Given the description of an element on the screen output the (x, y) to click on. 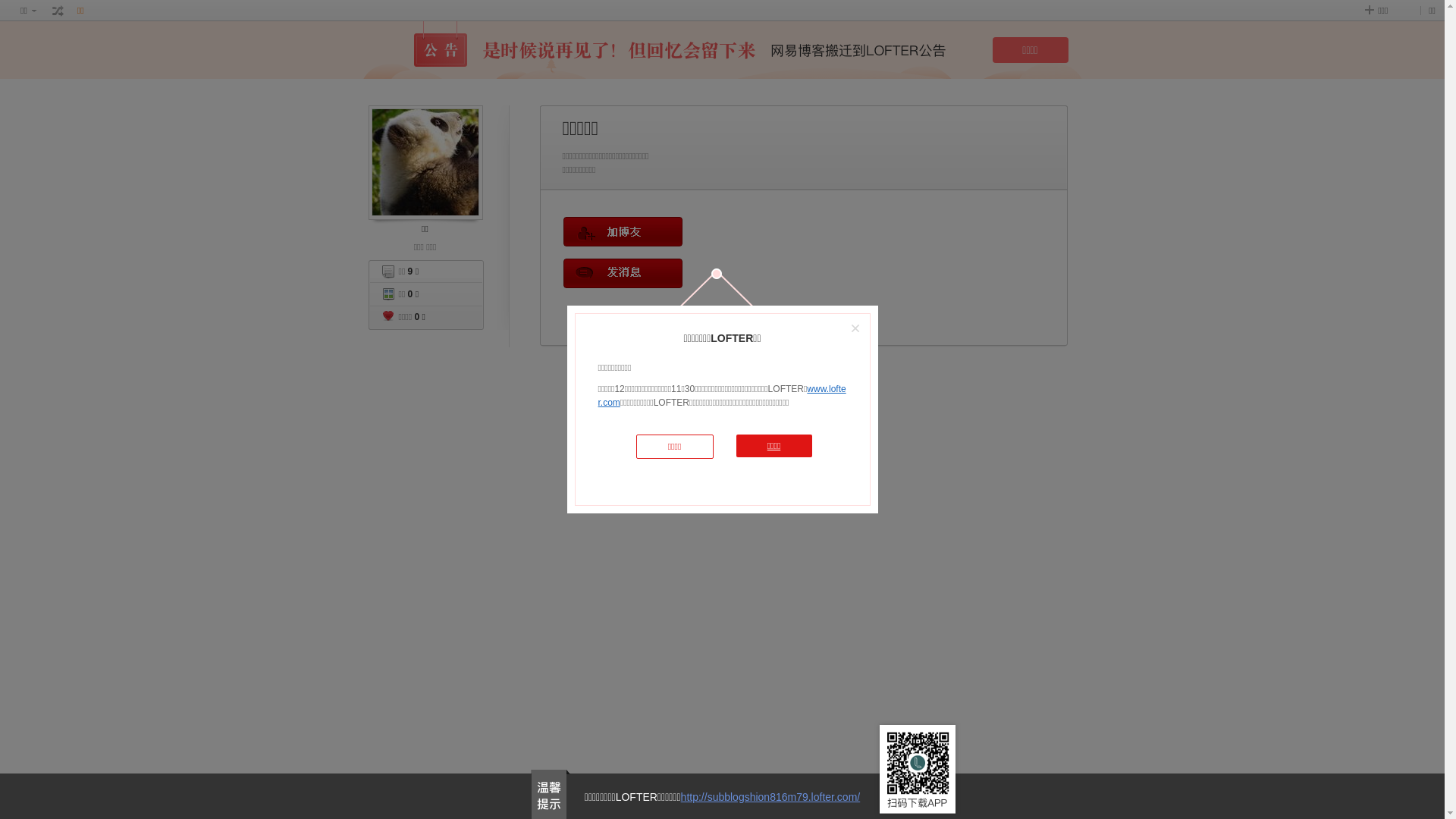
http://subblogshion816m79.lofter.com/ Element type: text (770, 796)
  Element type: text (58, 10)
www.lofter.com Element type: text (721, 395)
